Given the description of an element on the screen output the (x, y) to click on. 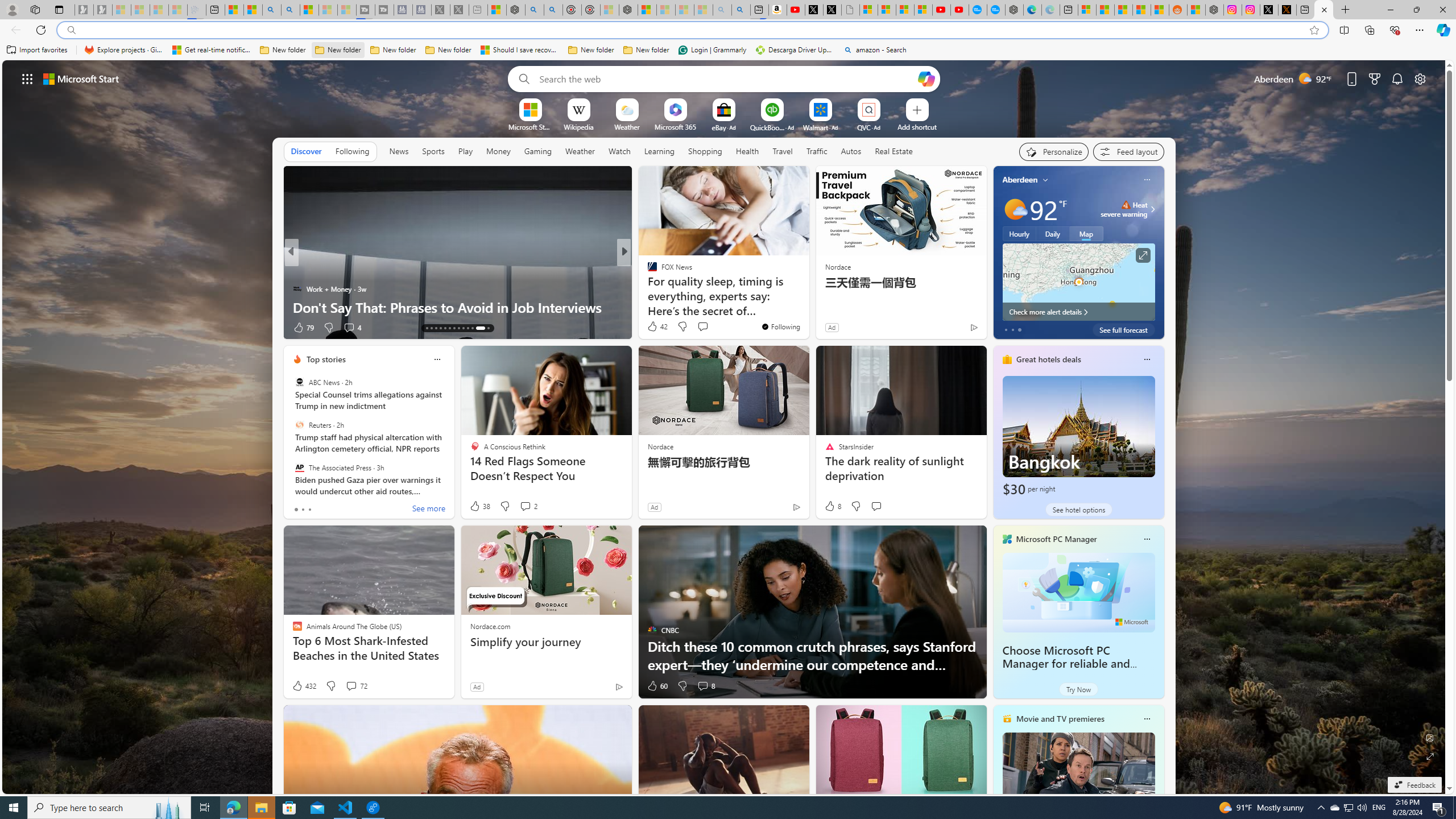
View comments 8 Comment (703, 685)
New split screen (759, 9)
View comments 72 Comment (355, 685)
See hotel options (1078, 509)
